Given the description of an element on the screen output the (x, y) to click on. 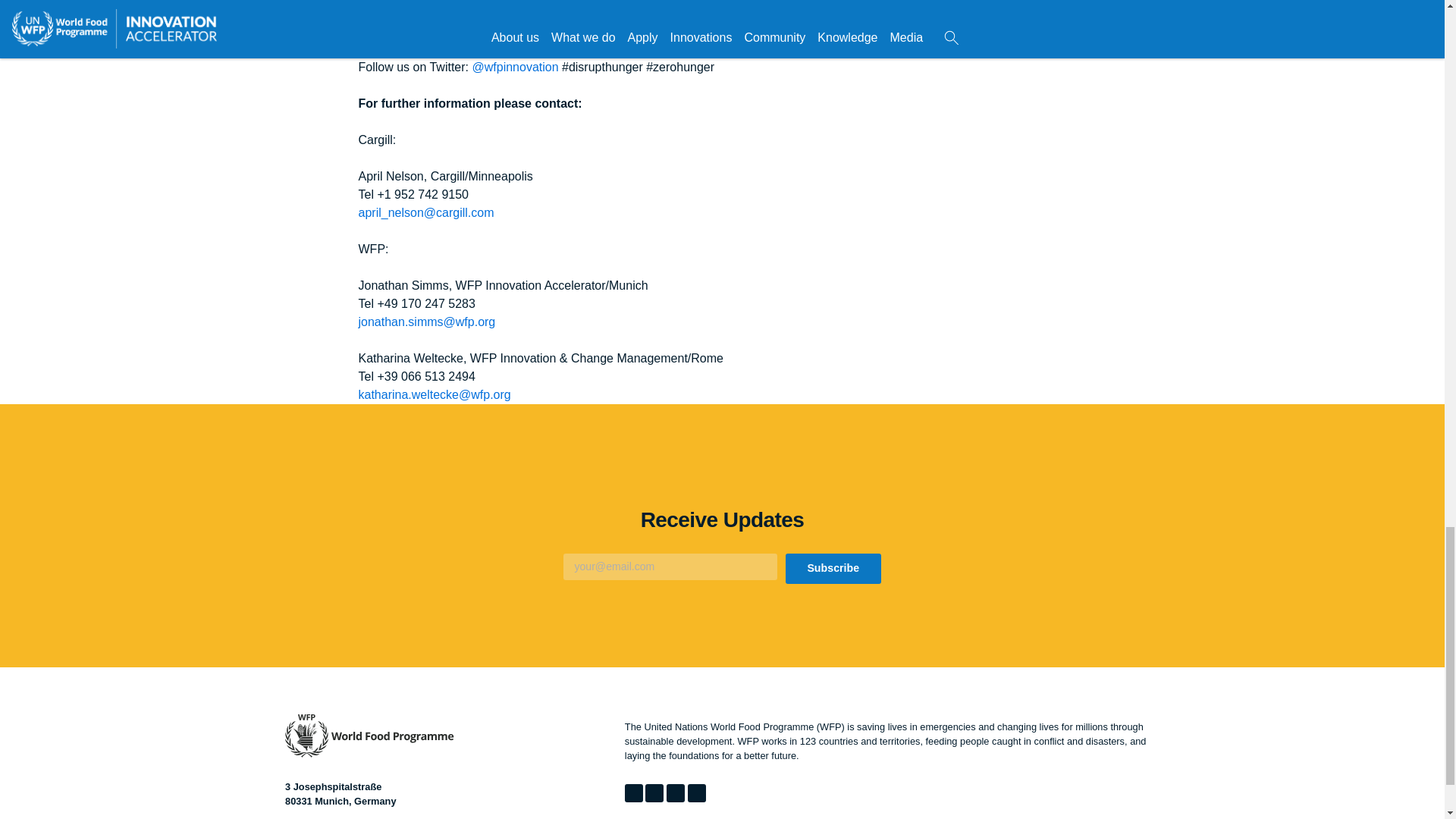
Medium (675, 792)
Subscribe (833, 568)
YouTube (696, 792)
LinkedIn (654, 792)
Twitter (633, 792)
